Given the description of an element on the screen output the (x, y) to click on. 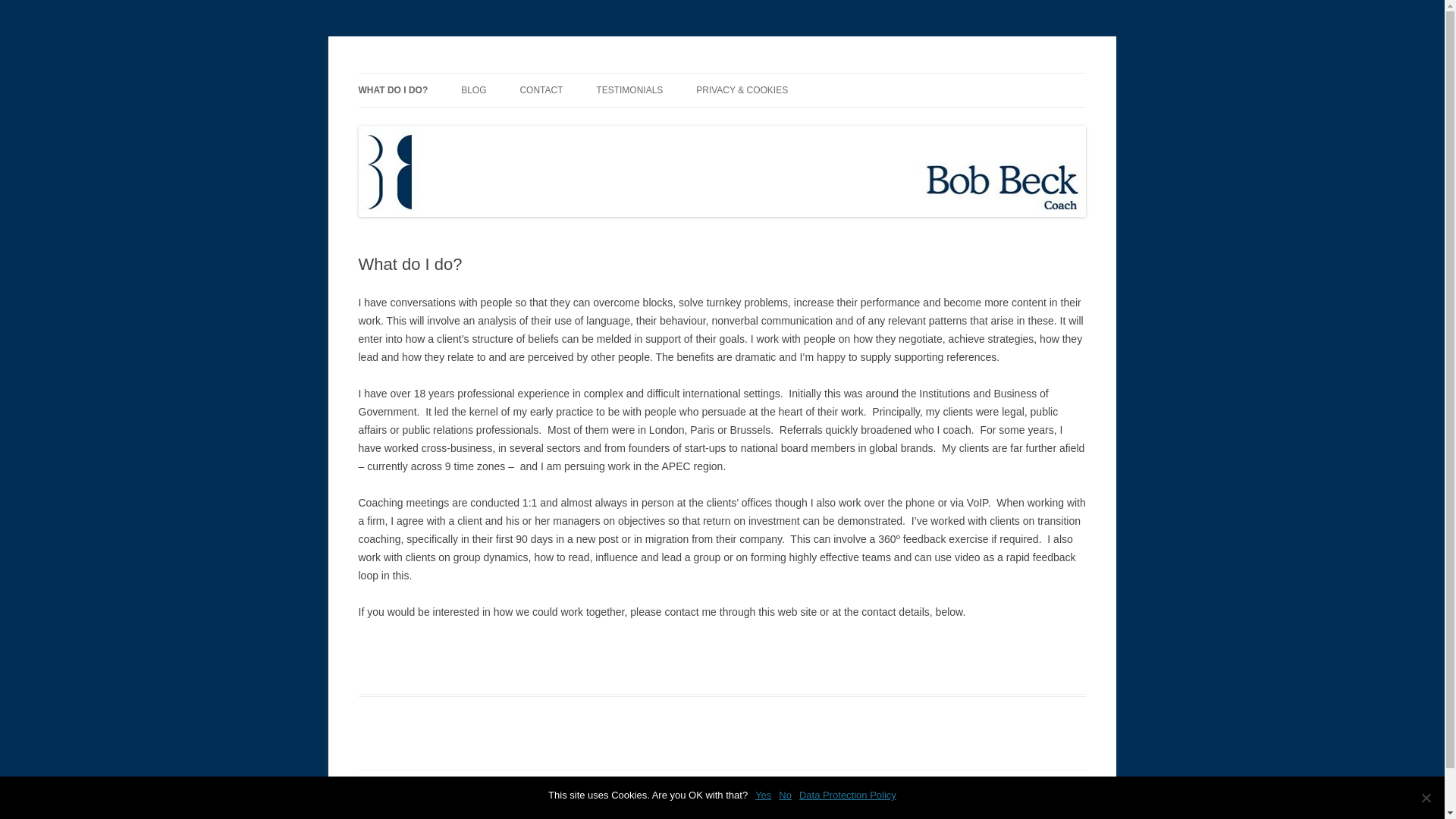
CONTACT (540, 90)
WHAT DO I DO? (393, 90)
Bob Beck (403, 72)
BLOG (473, 90)
TESTIMONIALS (628, 90)
